Given the description of an element on the screen output the (x, y) to click on. 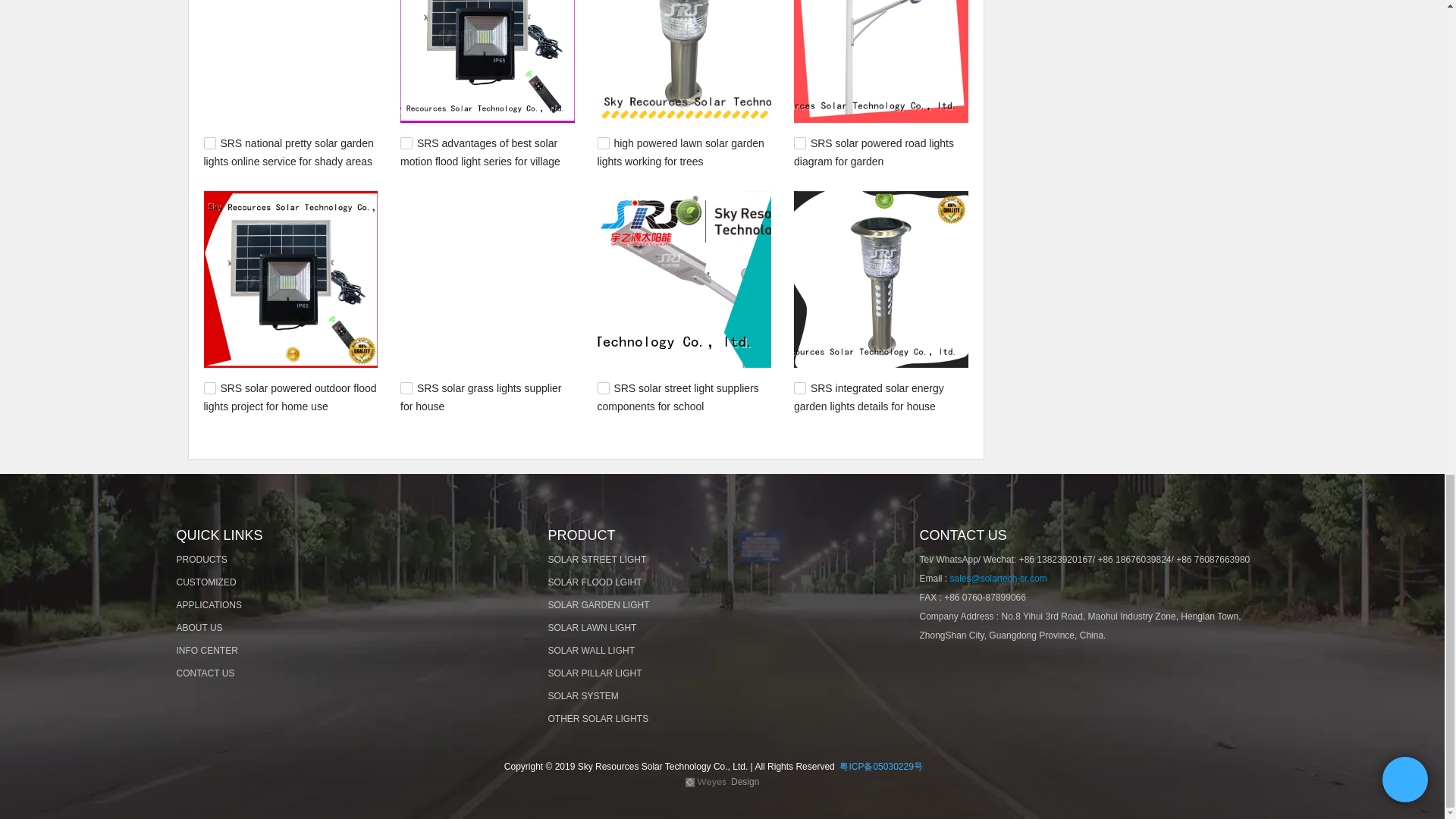
2837 (799, 387)
SRS solar grass lights supplier for house (481, 397)
2892 (603, 387)
SRS solar street light suppliers components for school (677, 397)
SRS solar powered road lights diagram for garden (873, 152)
SRS solar powered outdoor flood lights project for home use (289, 397)
3830 (603, 143)
2981 (209, 387)
4473 (209, 143)
